Given the description of an element on the screen output the (x, y) to click on. 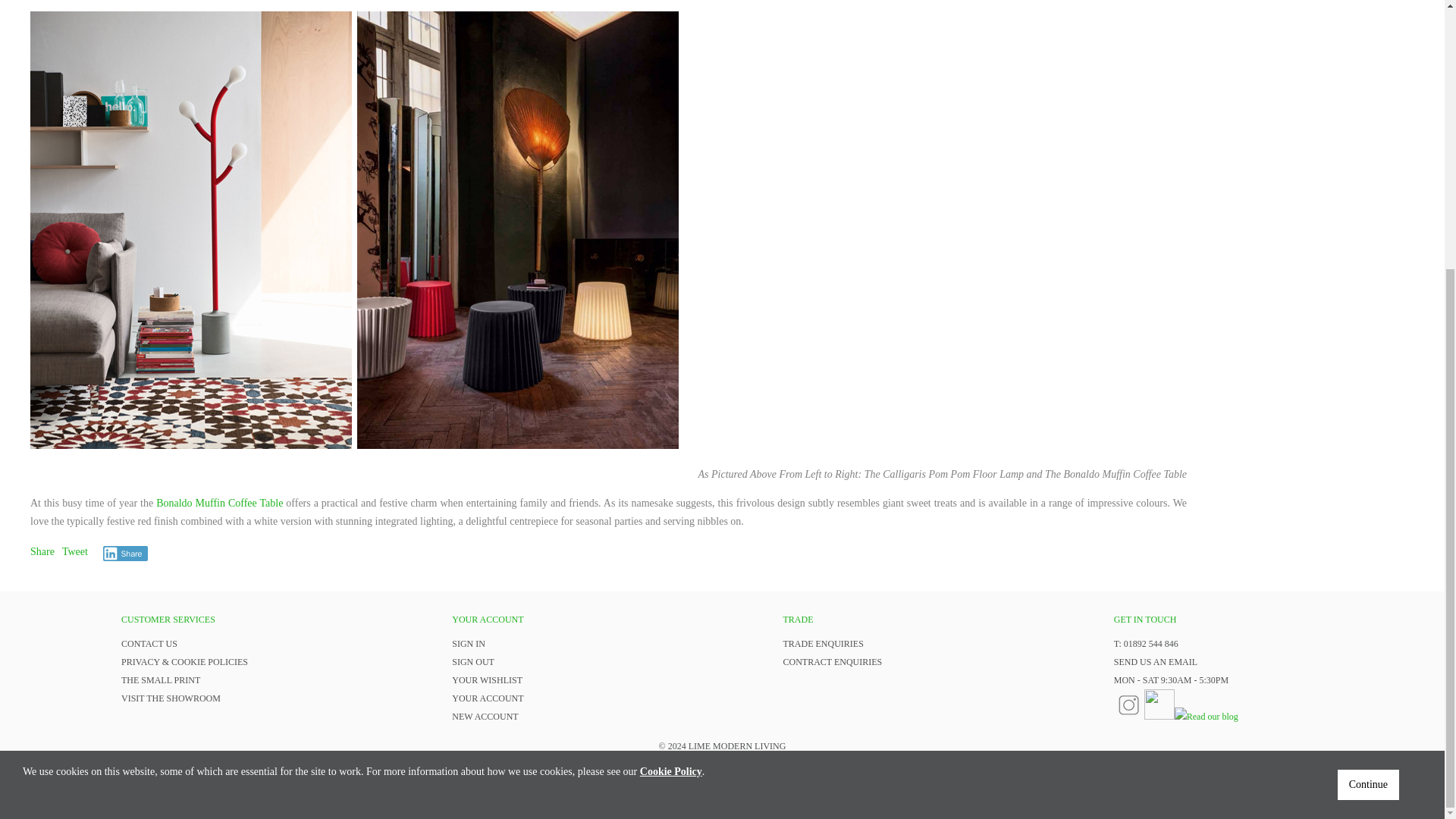
TRADE ENQUIRIES (823, 643)
Share (125, 553)
YOUR ACCOUNT (486, 697)
NEW ACCOUNT (484, 716)
SIGN OUT (473, 661)
THE SMALL PRINT (160, 679)
VISIT THE SHOWROOM (170, 697)
SIGN IN (467, 643)
YOUR WISHLIST (486, 679)
Tweet (74, 551)
SEND US AN EMAIL (1154, 661)
Bonaldo Muffin Coffee Table (218, 502)
Share (42, 551)
CONTRACT ENQUIRIES (832, 661)
CONTACT US (148, 643)
